Given the description of an element on the screen output the (x, y) to click on. 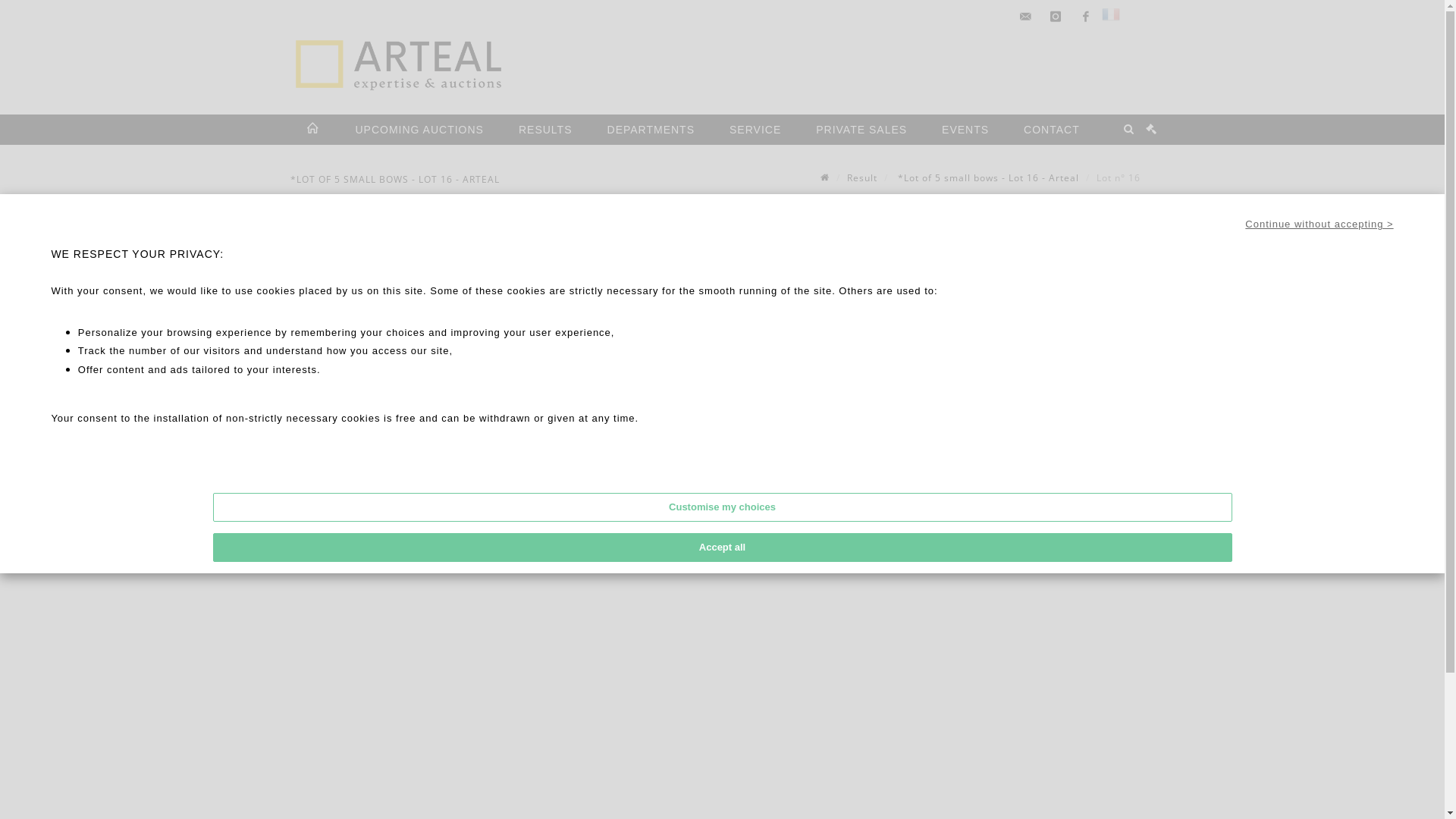
UPCOMING AUCTIONS Element type: text (418, 129)
RESULTS Element type: text (545, 129)
CONTACT Element type: text (1051, 129)
Zoom out Element type: hover (300, 273)
Accept all Element type: text (721, 547)
DEPARTMENTS Element type: text (651, 129)
Toggle full page Element type: hover (300, 318)
PRIVATE SALES Element type: text (861, 129)
Result Element type: text (861, 177)
RETURN TO CATALOGUE Element type: text (931, 486)
SERVICE Element type: text (754, 129)
Continue without accepting > Element type: text (1319, 224)
*Lot of 5 small bows - Lot 16 - Arteal Element type: text (986, 177)
SALES CONDITIONS Element type: text (931, 464)
Go home Element type: hover (300, 296)
SALE INFORMATION Element type: text (931, 441)
EVENTS Element type: text (965, 129)
Zoom in Element type: hover (300, 250)
Customise my choices Element type: text (721, 506)
